Given the description of an element on the screen output the (x, y) to click on. 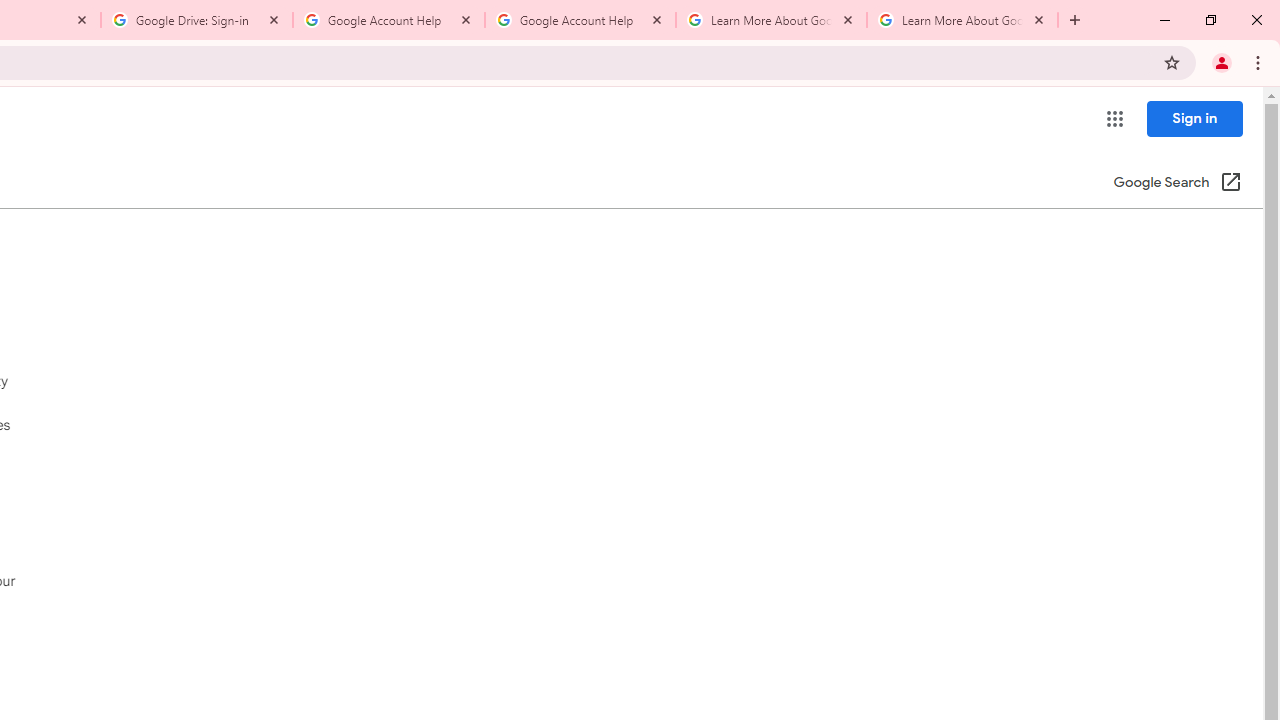
Google Drive: Sign-in (197, 20)
